Given the description of an element on the screen output the (x, y) to click on. 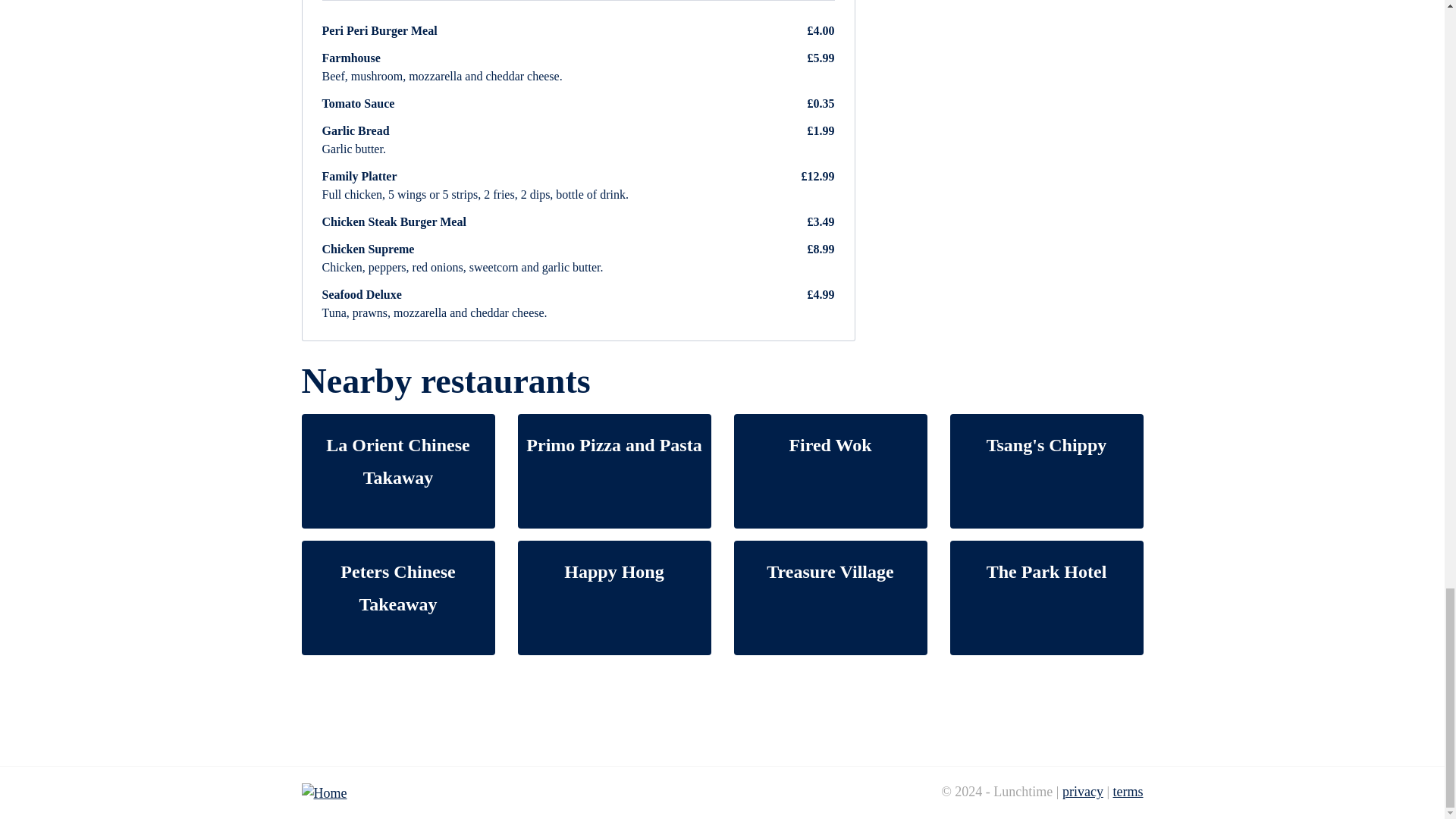
Happy Hong (613, 597)
terms (1127, 791)
Treasure Village (830, 597)
Fired Wok (830, 471)
La Orient Chinese Takaway (398, 471)
privacy (1082, 791)
Tsang's Chippy (1045, 471)
The Park Hotel (1045, 597)
Primo Pizza and Pasta (613, 471)
Peters Chinese Takeaway (398, 597)
